Given the description of an element on the screen output the (x, y) to click on. 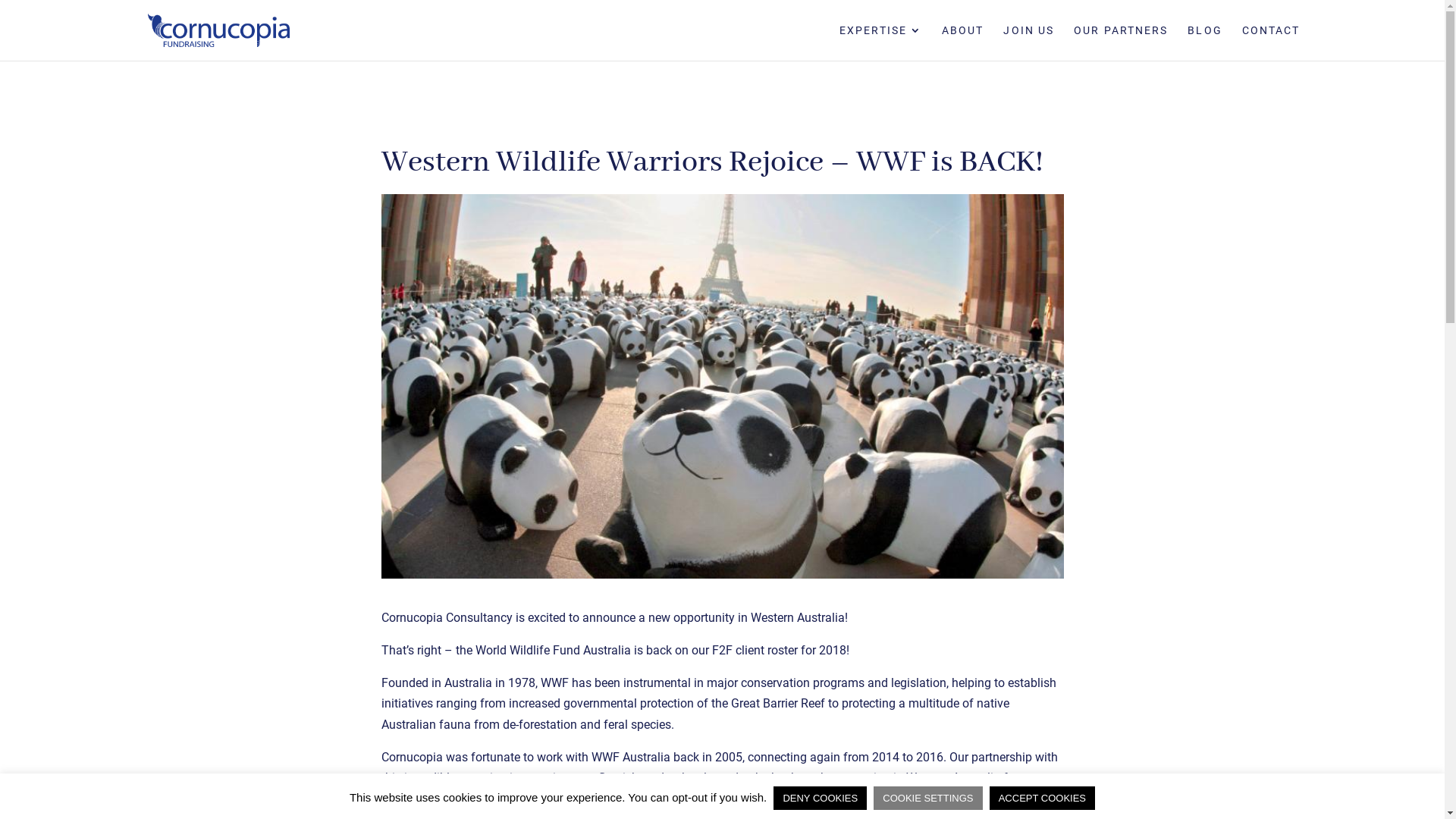
CONTACT Element type: text (1271, 42)
COOKIE SETTINGS Element type: text (927, 797)
JOIN US Element type: text (1028, 42)
ABOUT Element type: text (962, 42)
EXPERTISE Element type: text (880, 42)
OUR PARTNERS Element type: text (1120, 42)
BLOG Element type: text (1204, 42)
Founded in Australia in 1978 Element type: text (457, 682)
DENY COOKIES Element type: text (819, 797)
ACCEPT COOKIES Element type: text (1042, 797)
wwf paris panda pic Element type: hover (721, 386)
